Given the description of an element on the screen output the (x, y) to click on. 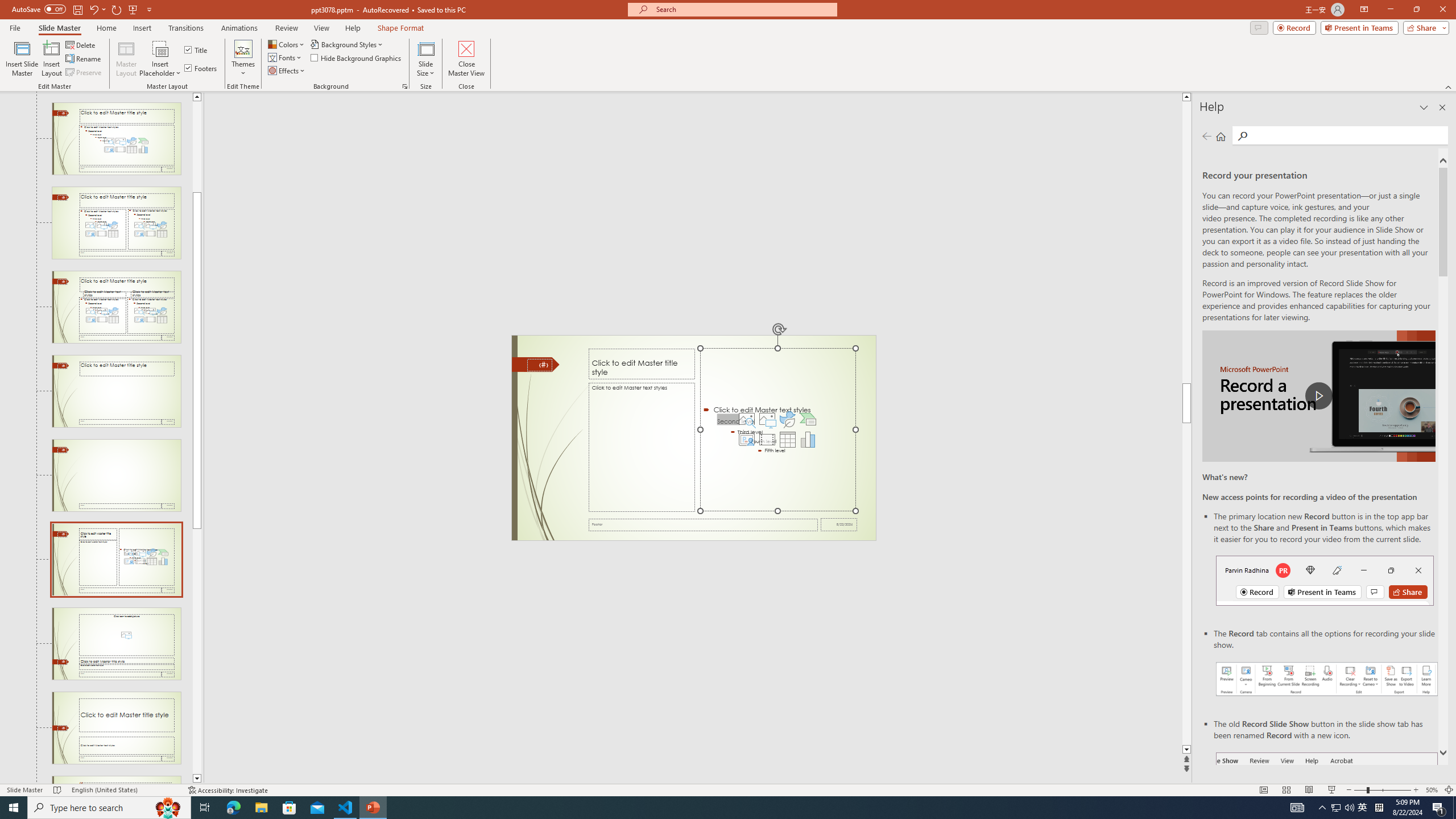
Zoom In (1415, 790)
Master Layout... (126, 58)
View (322, 28)
Effects (287, 69)
Close Master View (466, 58)
More Options (160, 68)
Class: MsoCommandBar (728, 789)
Line up (197, 96)
TextBox (641, 446)
Zoom (1382, 790)
Slide Blank Layout: used by no slides (116, 475)
Insert Chart (807, 439)
Slide Number (539, 364)
Line down (197, 778)
Normal (1263, 790)
